Given the description of an element on the screen output the (x, y) to click on. 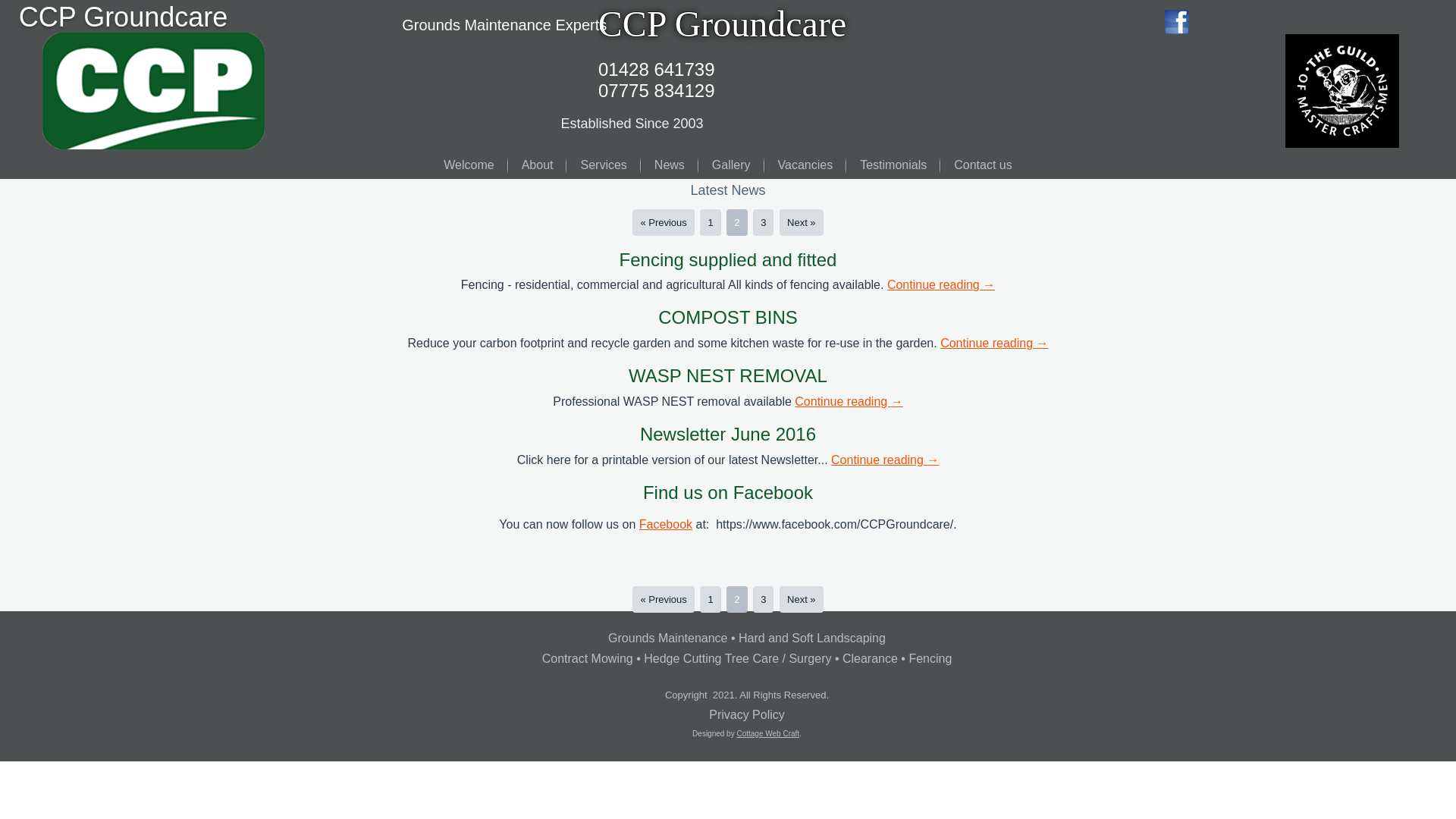
Vacancies (805, 165)
WASP NEST REMOVAL (727, 375)
About (537, 165)
Fencing supplied and fitted (728, 259)
Vacancies (805, 165)
COMPOST BINS (727, 317)
Find us on Facebook (727, 492)
COMPOST BINS (727, 317)
WASP NEST REMOVAL (727, 375)
Newsletter June 2016 (727, 434)
Testimonials (893, 165)
News (669, 165)
Testimonials (893, 165)
07775 834129 (656, 90)
About (537, 165)
